Given the description of an element on the screen output the (x, y) to click on. 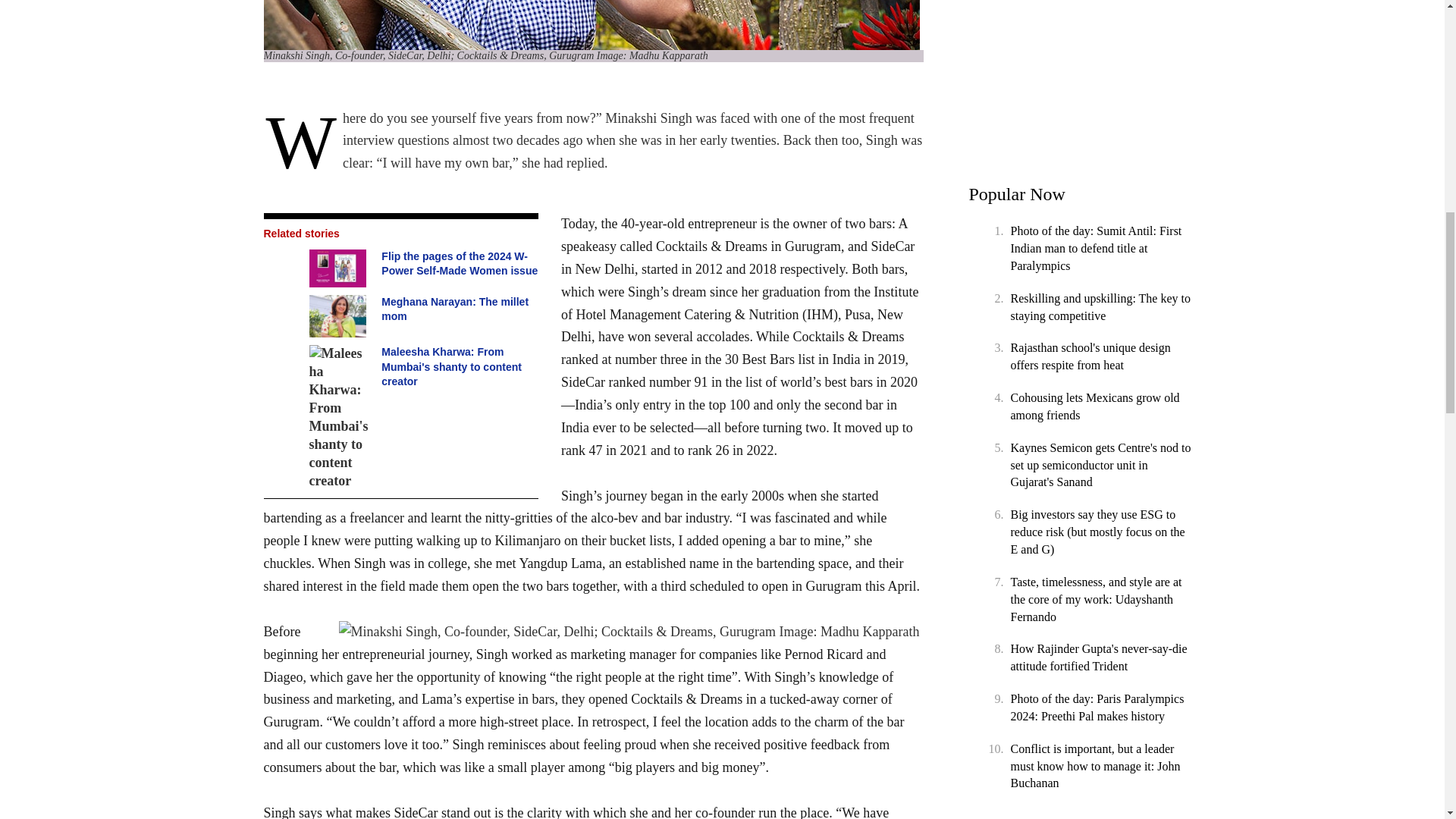
Minakshi Singh: Putting India's bars on the global map (593, 24)
Meghana Narayan: The millet mom (339, 316)
Minakshi Singh: Putting India's bars on the global map (631, 631)
Flip the pages of the 2024 W-Power Self-Made Women issue (339, 268)
